Given the description of an element on the screen output the (x, y) to click on. 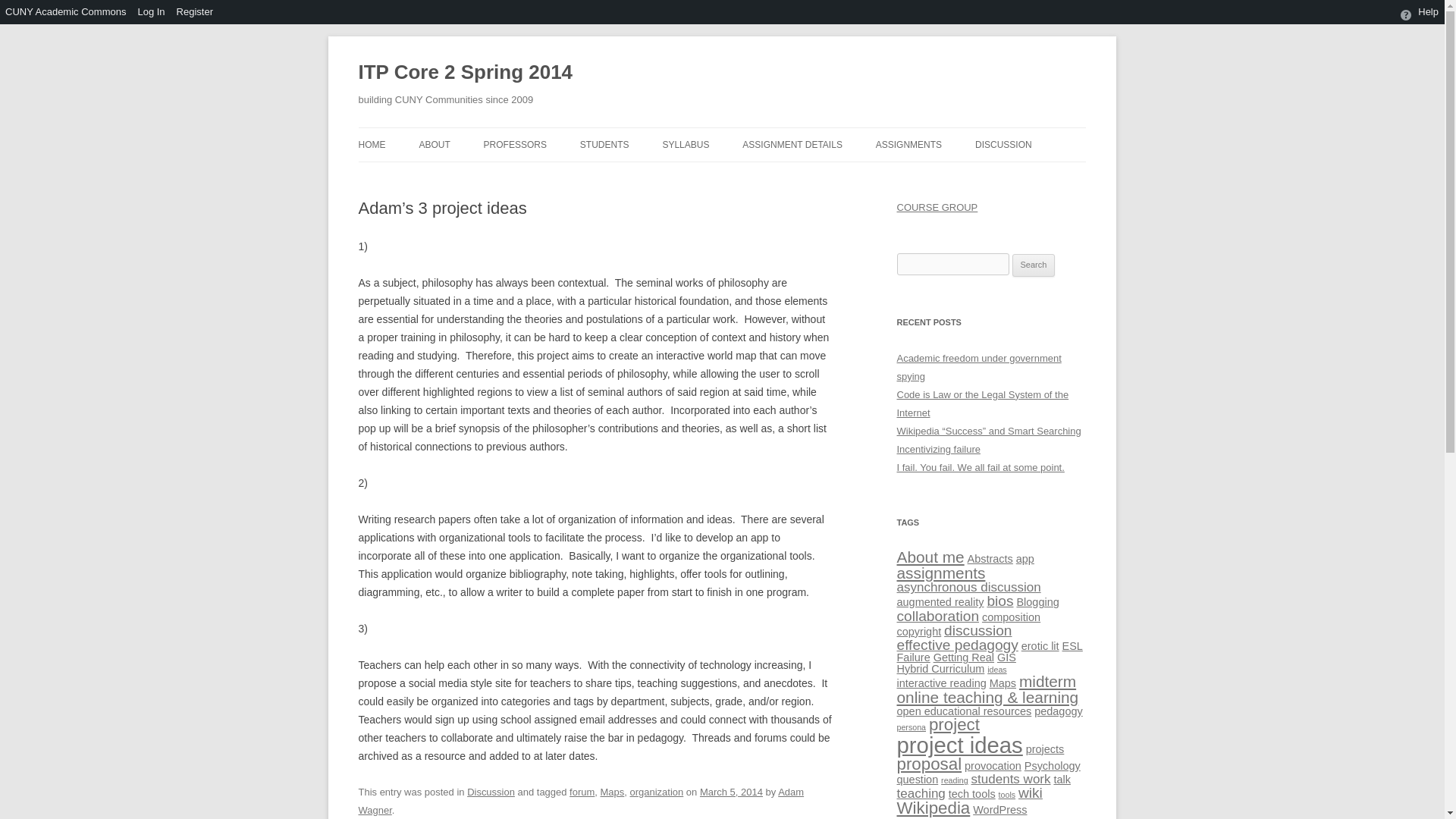
Search (1033, 264)
ASSIGNMENTS (909, 144)
STUDENTS (603, 144)
PROFESSORS (515, 144)
Maps (611, 791)
organization (657, 791)
Discussion (491, 791)
ITP Core 2 Spring 2014 (465, 72)
1:53 pm (731, 791)
